Given the description of an element on the screen output the (x, y) to click on. 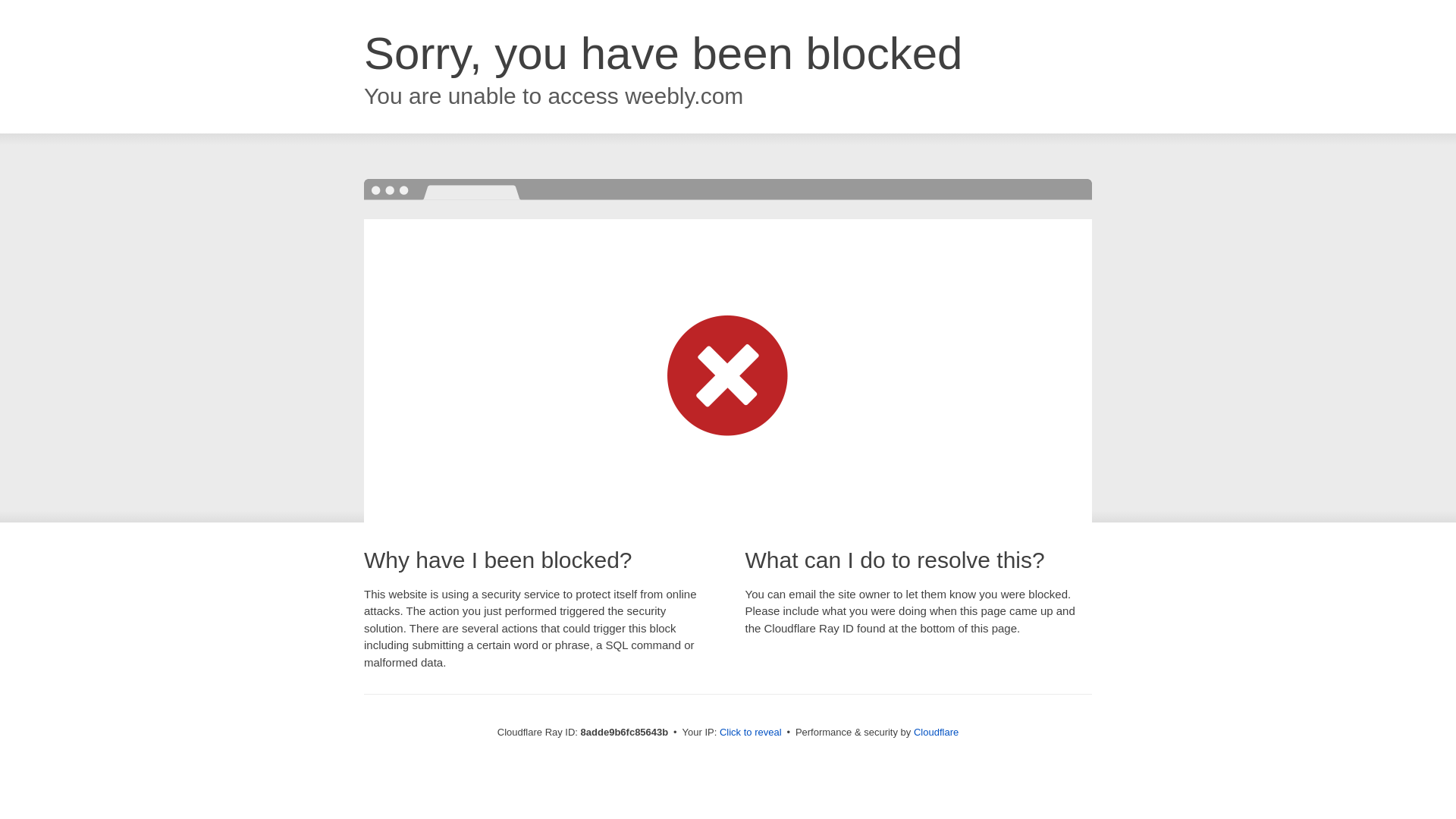
Click to reveal (750, 732)
Cloudflare (936, 731)
